Given the description of an element on the screen output the (x, y) to click on. 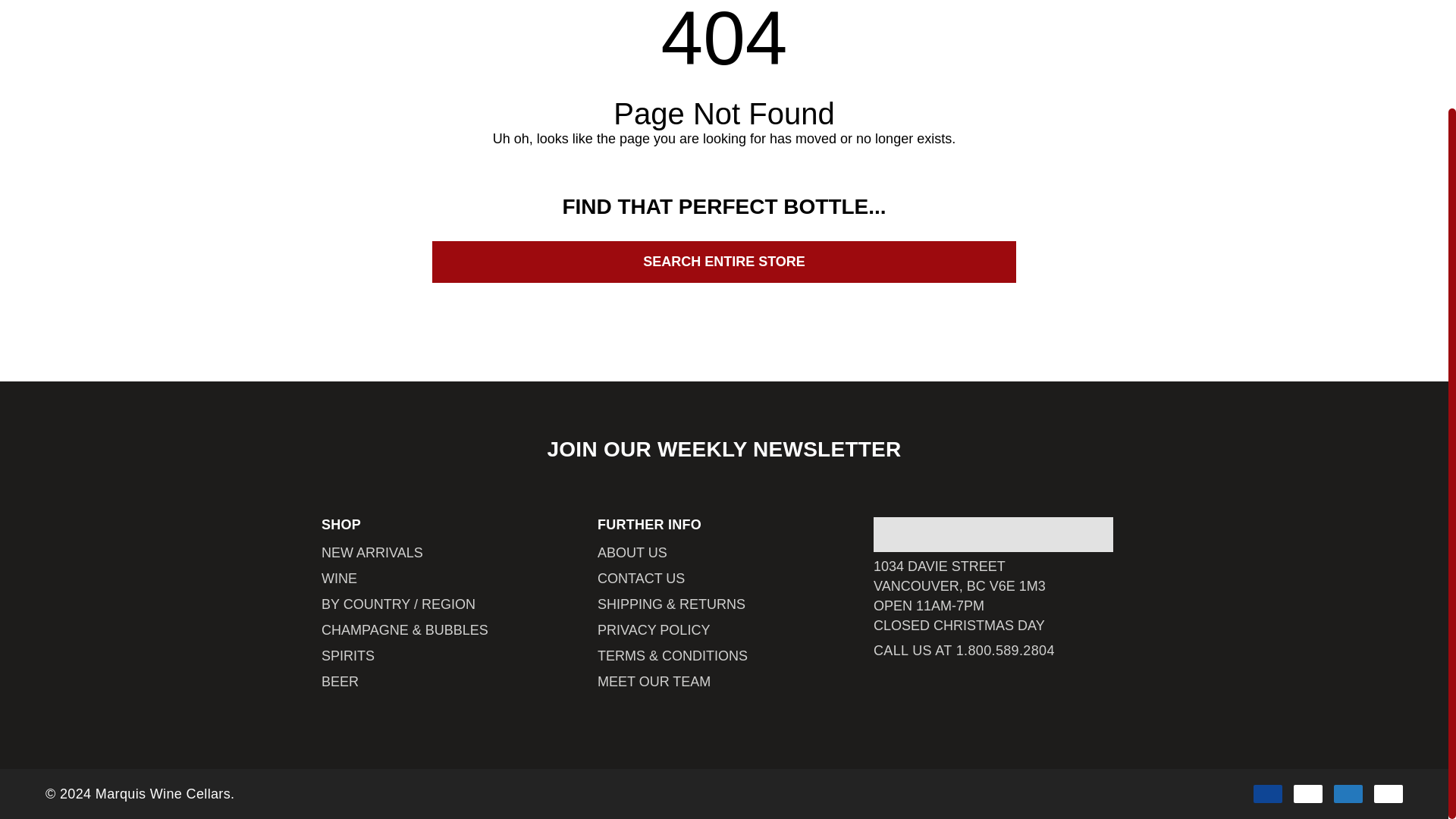
Paypal Paypal (1388, 793)
CALL US AT 1.800.589.2804 (963, 650)
MEET OUR TEAM (653, 681)
PRIVACY POLICY (653, 629)
Visa Visa (1267, 793)
SPIRITS (347, 655)
facebook facebook (876, 696)
Mastercard Mastercard (1308, 793)
instagram instagram (941, 696)
BEER (339, 681)
